Given the description of an element on the screen output the (x, y) to click on. 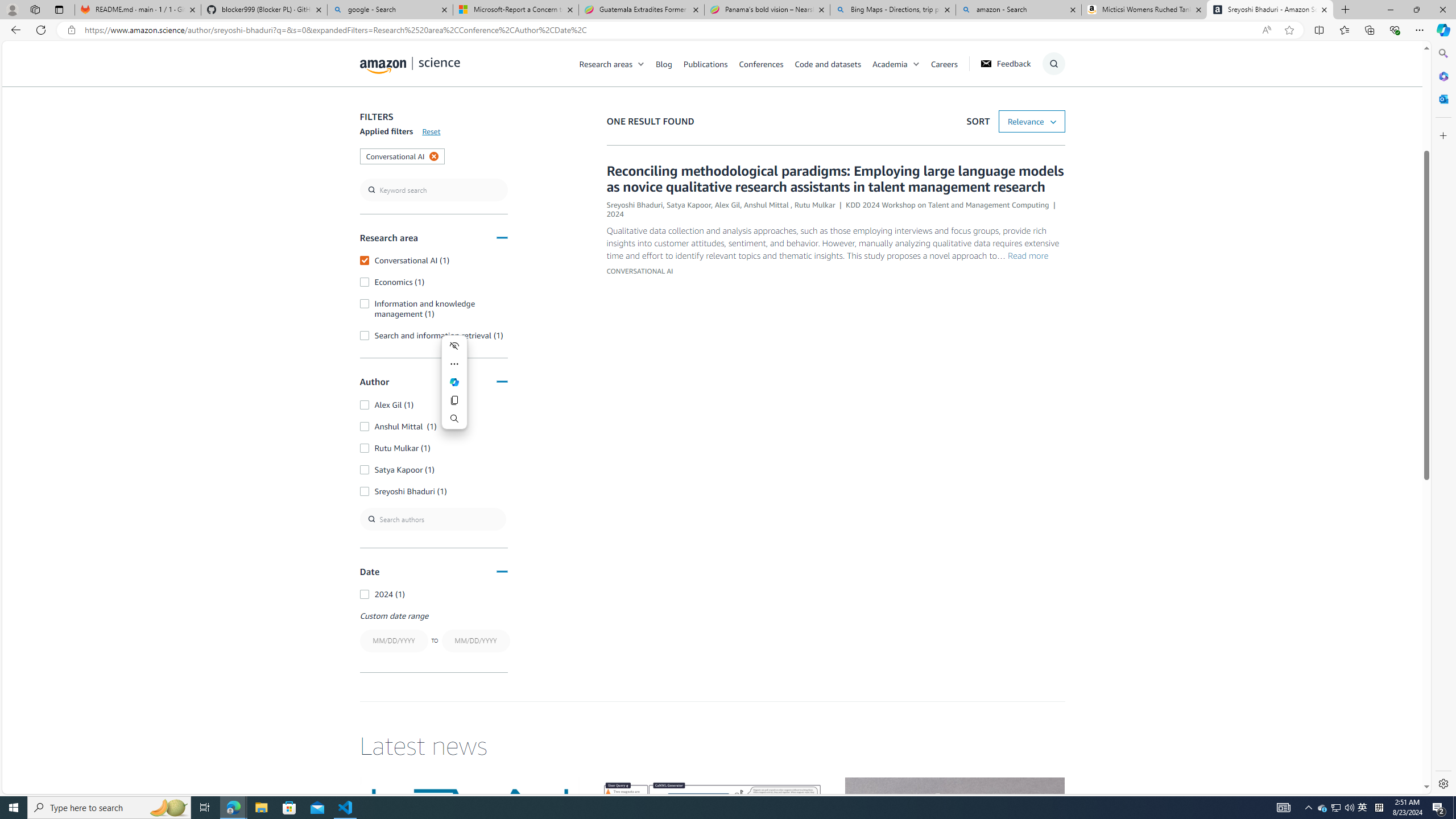
Ask Copilot (454, 382)
Careers (949, 63)
Publications (705, 63)
Mini menu on text selection (454, 388)
Academia (889, 63)
Tab actions menu (58, 9)
Class: chevron (916, 66)
Address and search bar (669, 29)
Close tab (1324, 9)
Custom date rangeTO (433, 632)
